Given the description of an element on the screen output the (x, y) to click on. 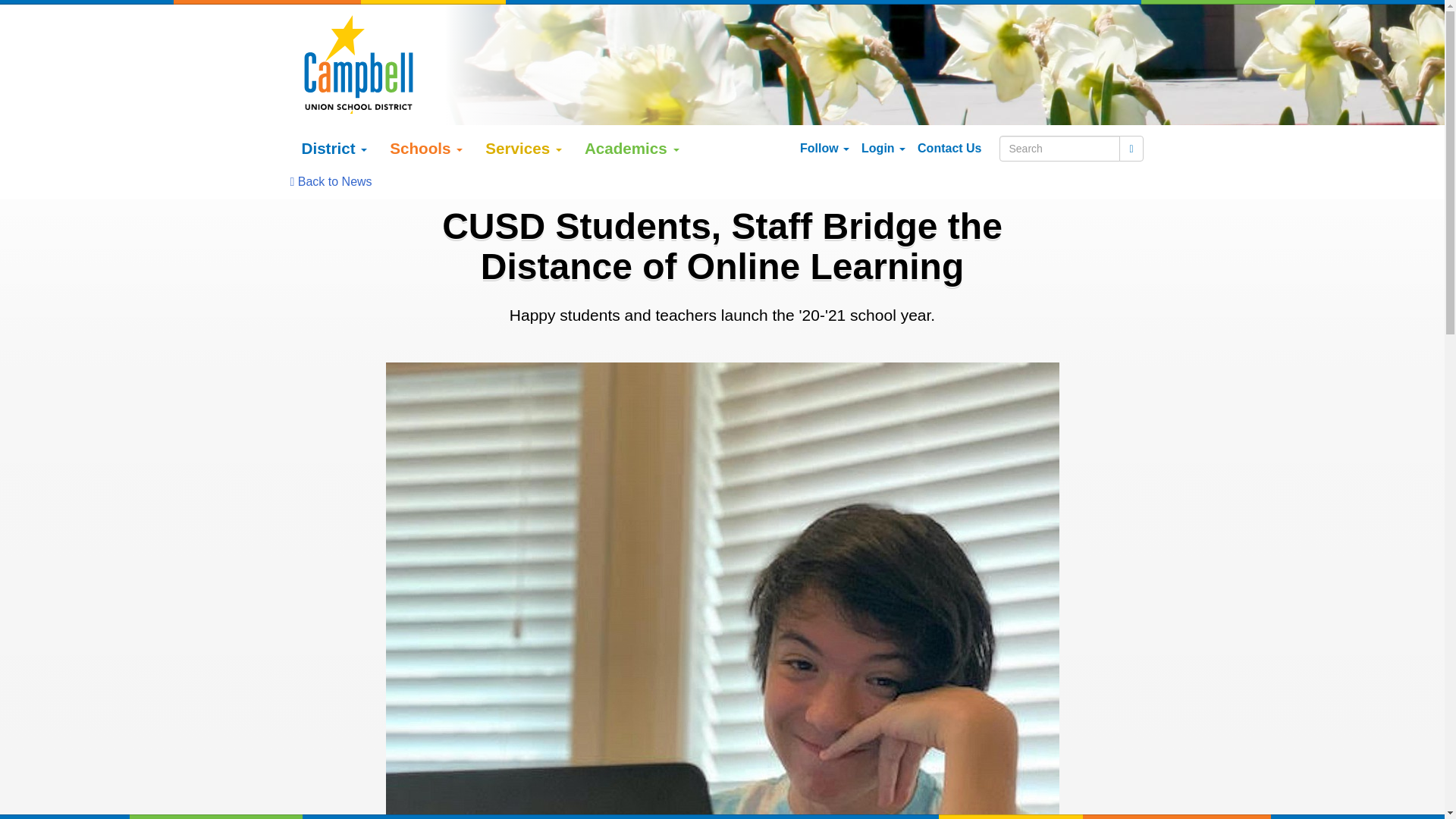
District (333, 148)
Contact Us (949, 148)
Visit CampbellUSD Home (357, 64)
Schools (426, 148)
Login (883, 148)
Academics (631, 148)
Services (523, 148)
Follow (824, 148)
Search (1059, 148)
